Given the description of an element on the screen output the (x, y) to click on. 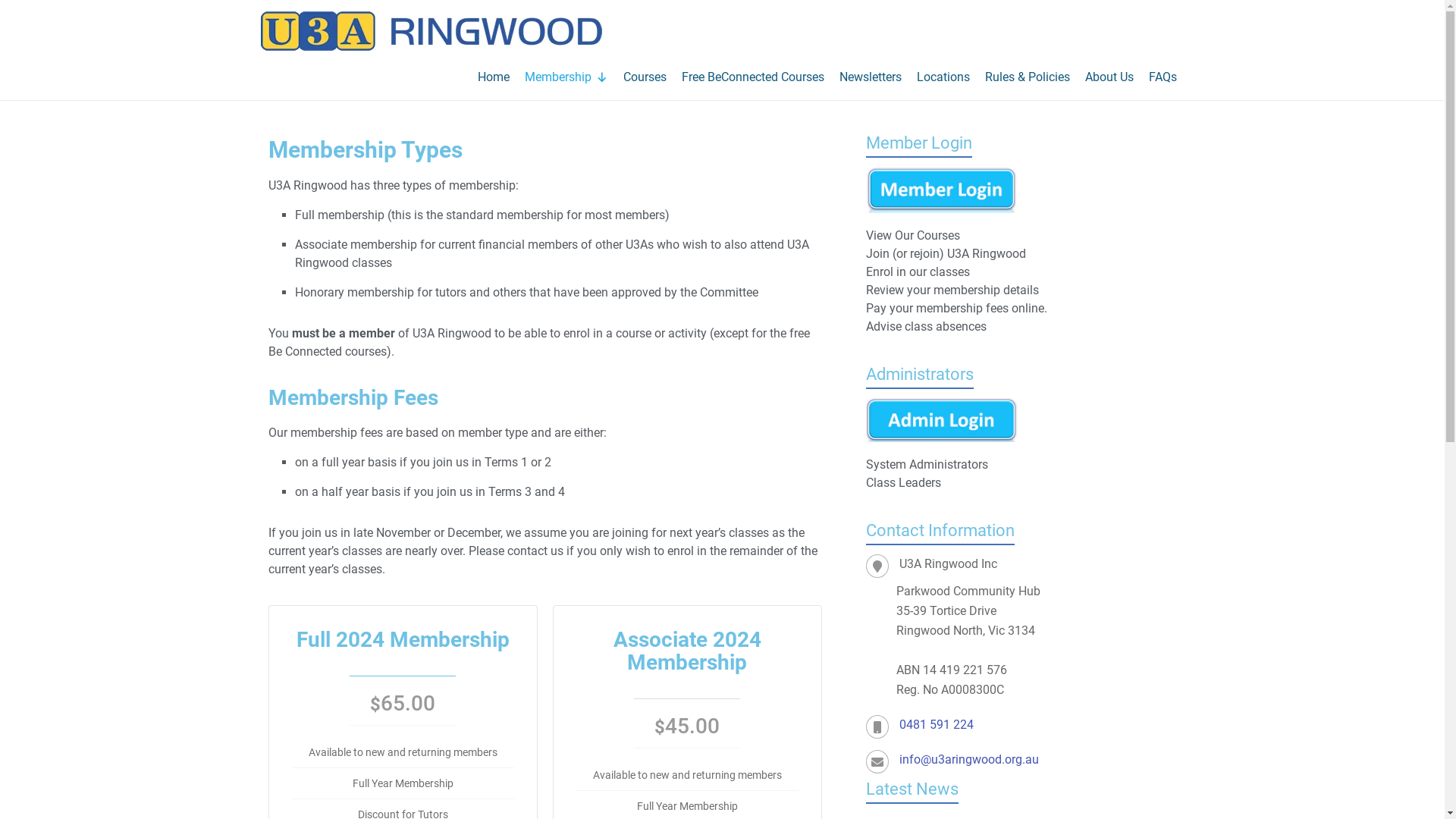
Courses Element type: text (644, 76)
Administrators Element type: hover (941, 405)
0481 591 224 Element type: text (936, 724)
Newsletters Element type: text (869, 76)
About Us Element type: text (1108, 76)
Locations Element type: text (942, 76)
Rules & Policies Element type: text (1026, 76)
FAQs Element type: text (1161, 76)
info@u3aringwood.org.au Element type: text (968, 759)
Home Element type: text (493, 76)
Member Login Element type: hover (941, 173)
Membership Element type: text (566, 76)
Free BeConnected Courses Element type: text (752, 76)
